Given the description of an element on the screen output the (x, y) to click on. 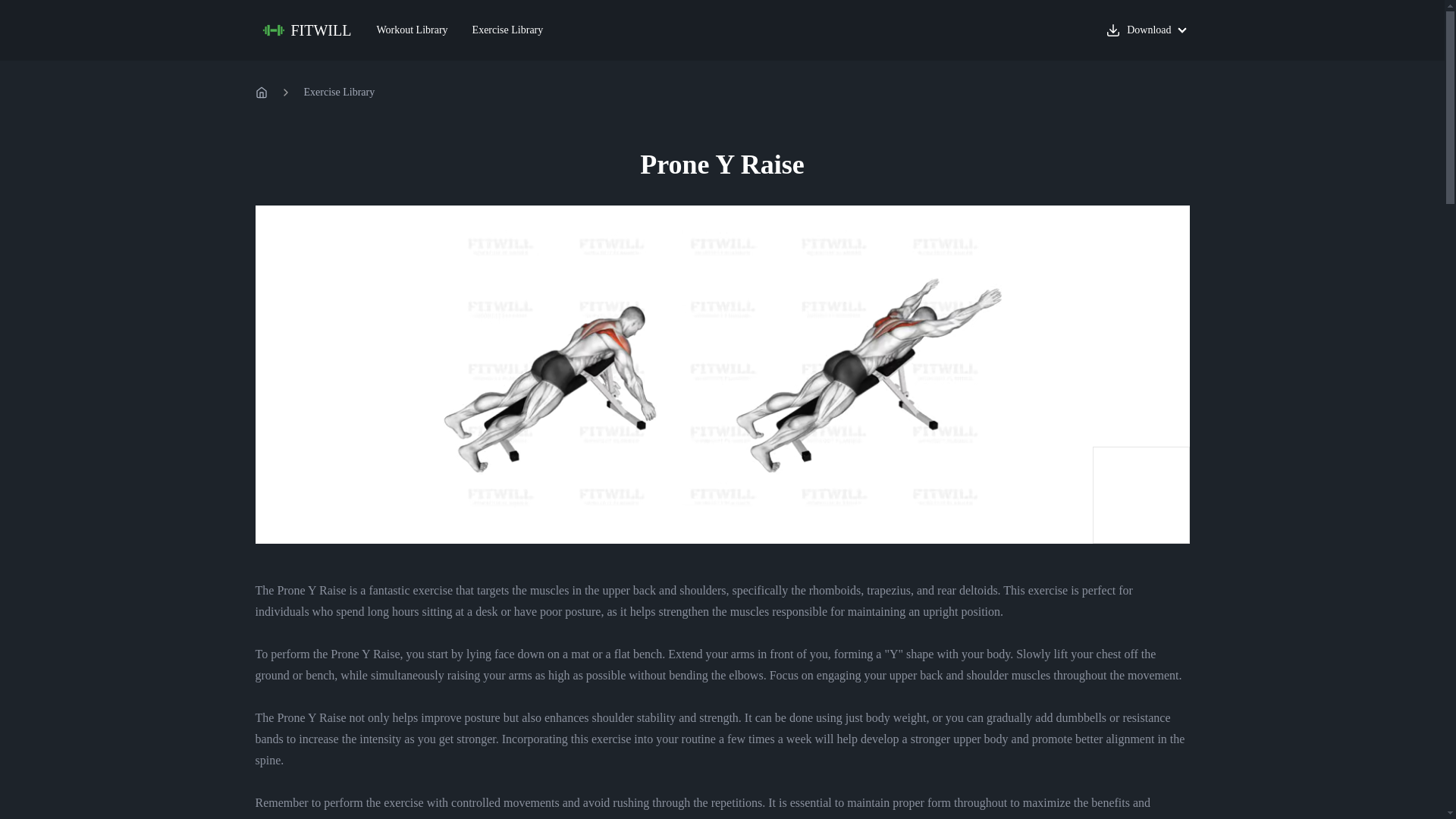
FITWILL (308, 31)
Exercise Library (338, 92)
Exercise Library (508, 30)
QR Code: View in the Fitwill app (1140, 494)
Home (260, 92)
Workout Library (412, 30)
